Given the description of an element on the screen output the (x, y) to click on. 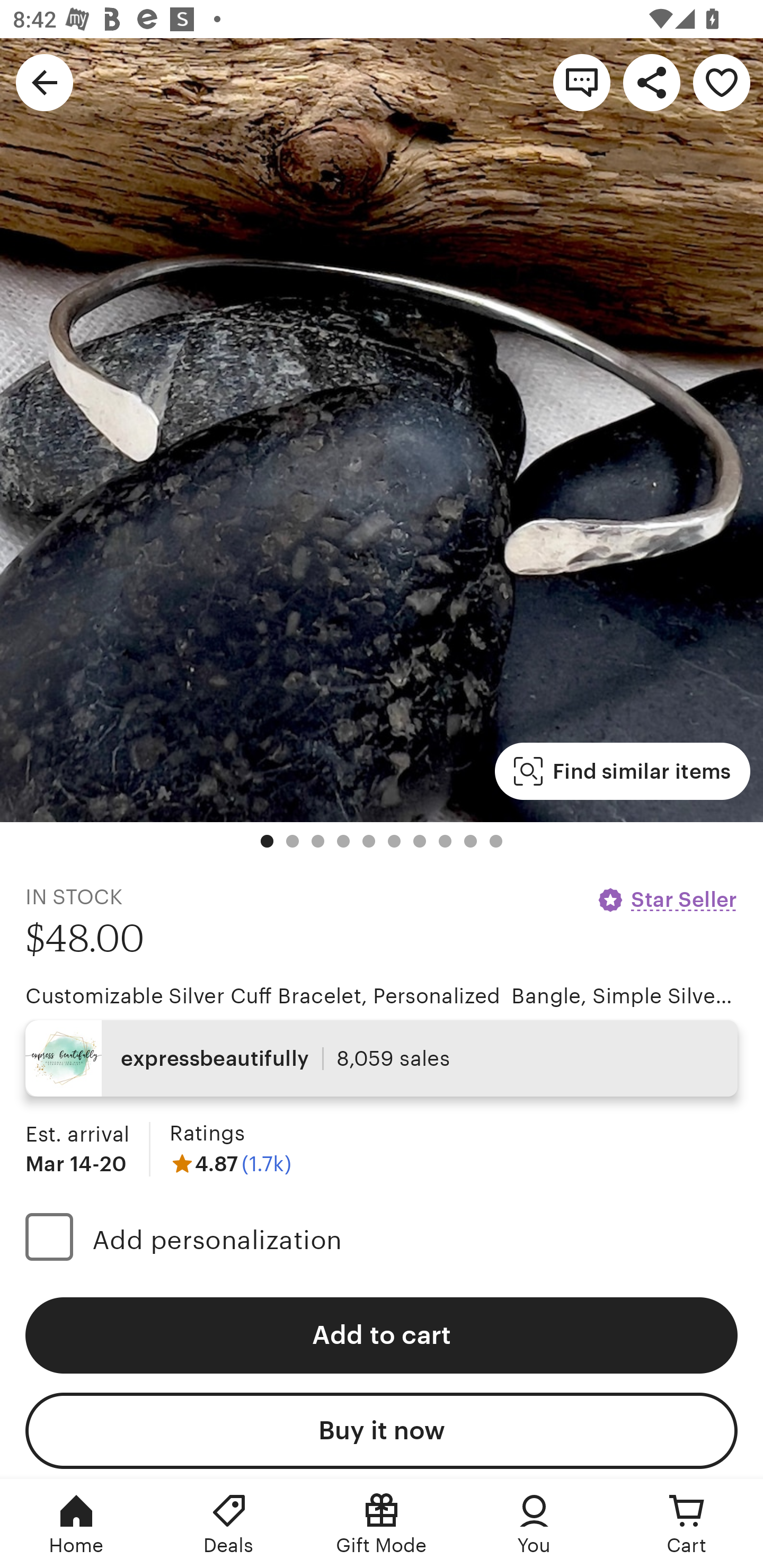
Navigate up (44, 81)
Contact shop (581, 81)
Share (651, 81)
Find similar items (622, 771)
Star Seller (666, 899)
expressbeautifully 8,059 sales (381, 1058)
Ratings (206, 1133)
4.87 (1.7k) (230, 1163)
Add personalization (optional) Add personalization (381, 1239)
Add to cart (381, 1334)
Buy it now (381, 1430)
Deals (228, 1523)
Gift Mode (381, 1523)
You (533, 1523)
Cart (686, 1523)
